Given the description of an element on the screen output the (x, y) to click on. 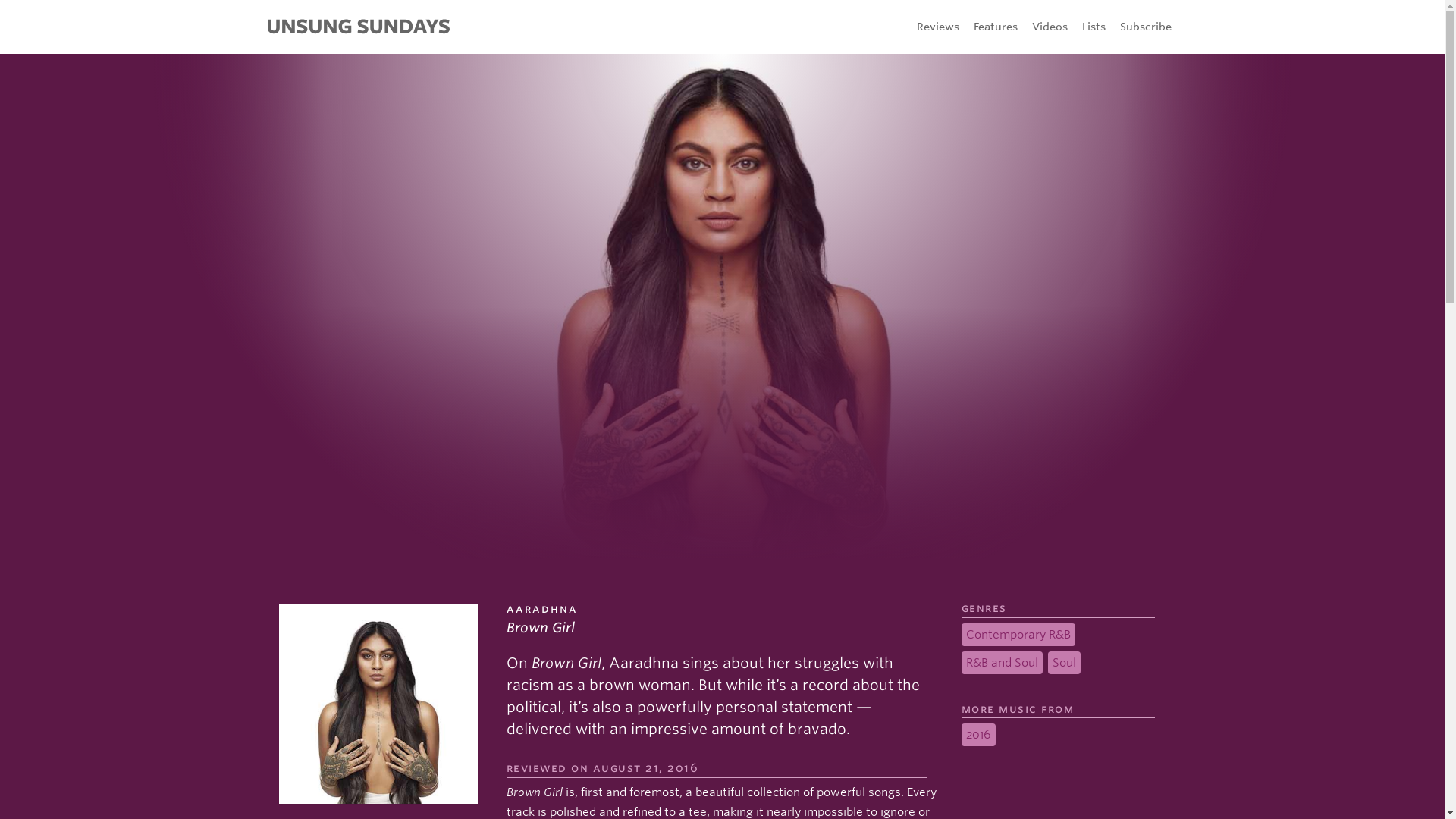
View all posts in Soul (1064, 662)
Reviews (936, 25)
Lists (1093, 25)
Features (995, 25)
Soul (1064, 662)
View all posts in 2016 (977, 734)
Videos (1048, 25)
Subscribe (1144, 25)
2016 (977, 734)
